Given the description of an element on the screen output the (x, y) to click on. 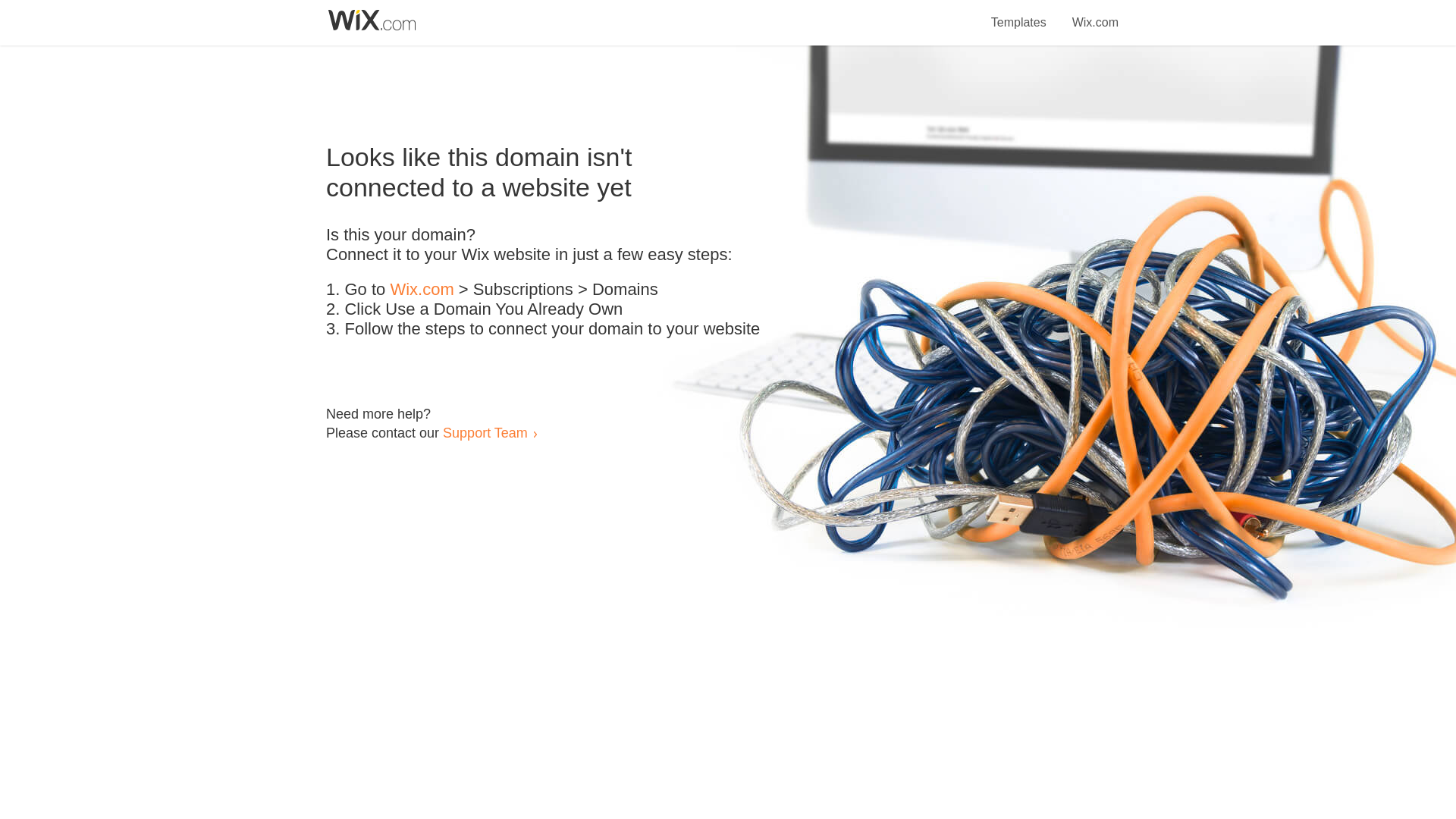
Support Team (484, 432)
Wix.com (421, 289)
Templates (1018, 14)
Wix.com (1095, 14)
